Given the description of an element on the screen output the (x, y) to click on. 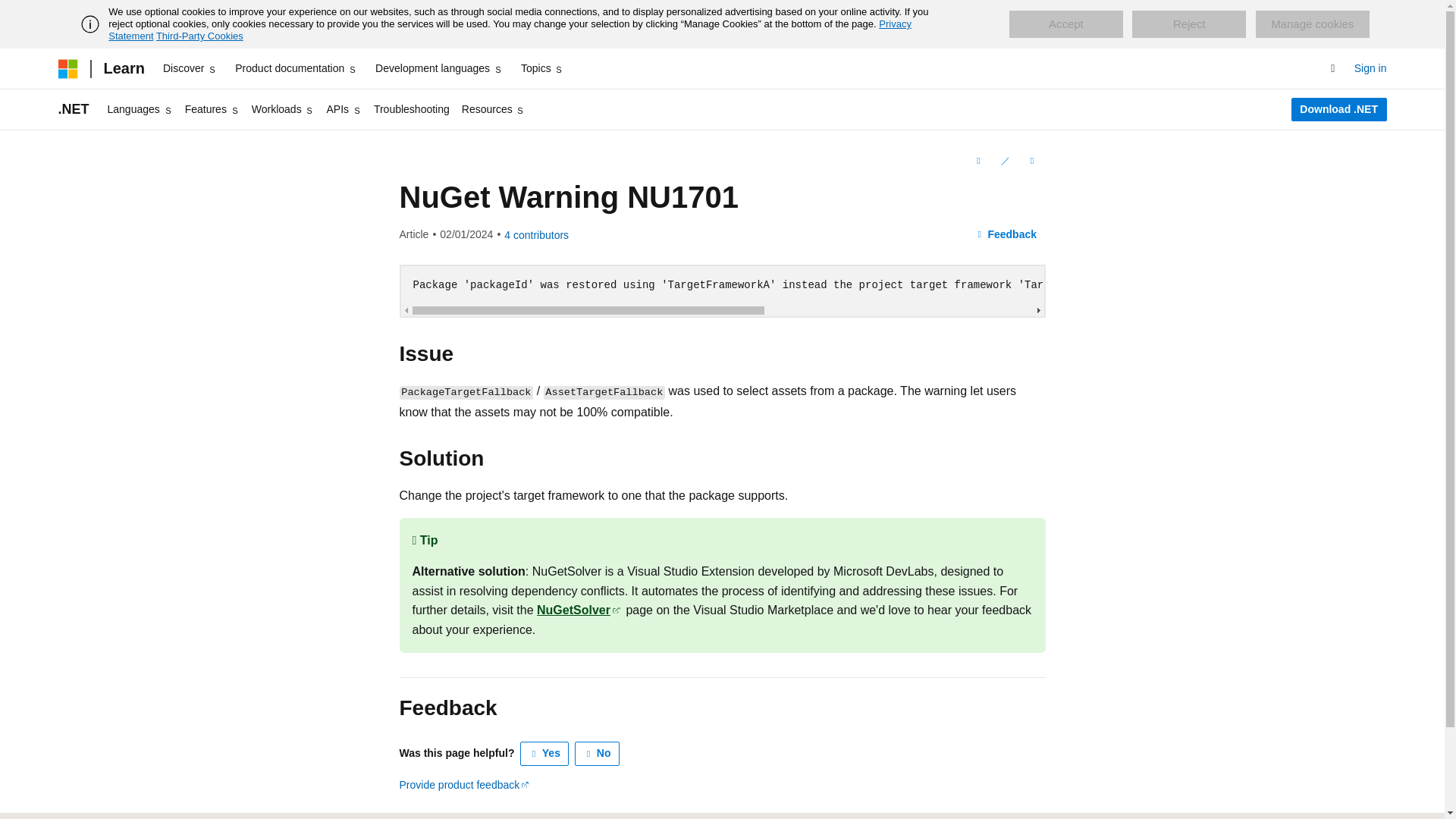
Sign in (1370, 68)
Skip to main content (11, 11)
Accept (1065, 23)
Learn (123, 68)
Privacy Statement (509, 29)
Features (212, 109)
Languages (140, 109)
Development languages (438, 68)
This article is helpful (544, 753)
Manage cookies (1312, 23)
Topics (542, 68)
This article is not helpful (597, 753)
.NET (73, 109)
Third-Party Cookies (199, 35)
More actions (1031, 160)
